Given the description of an element on the screen output the (x, y) to click on. 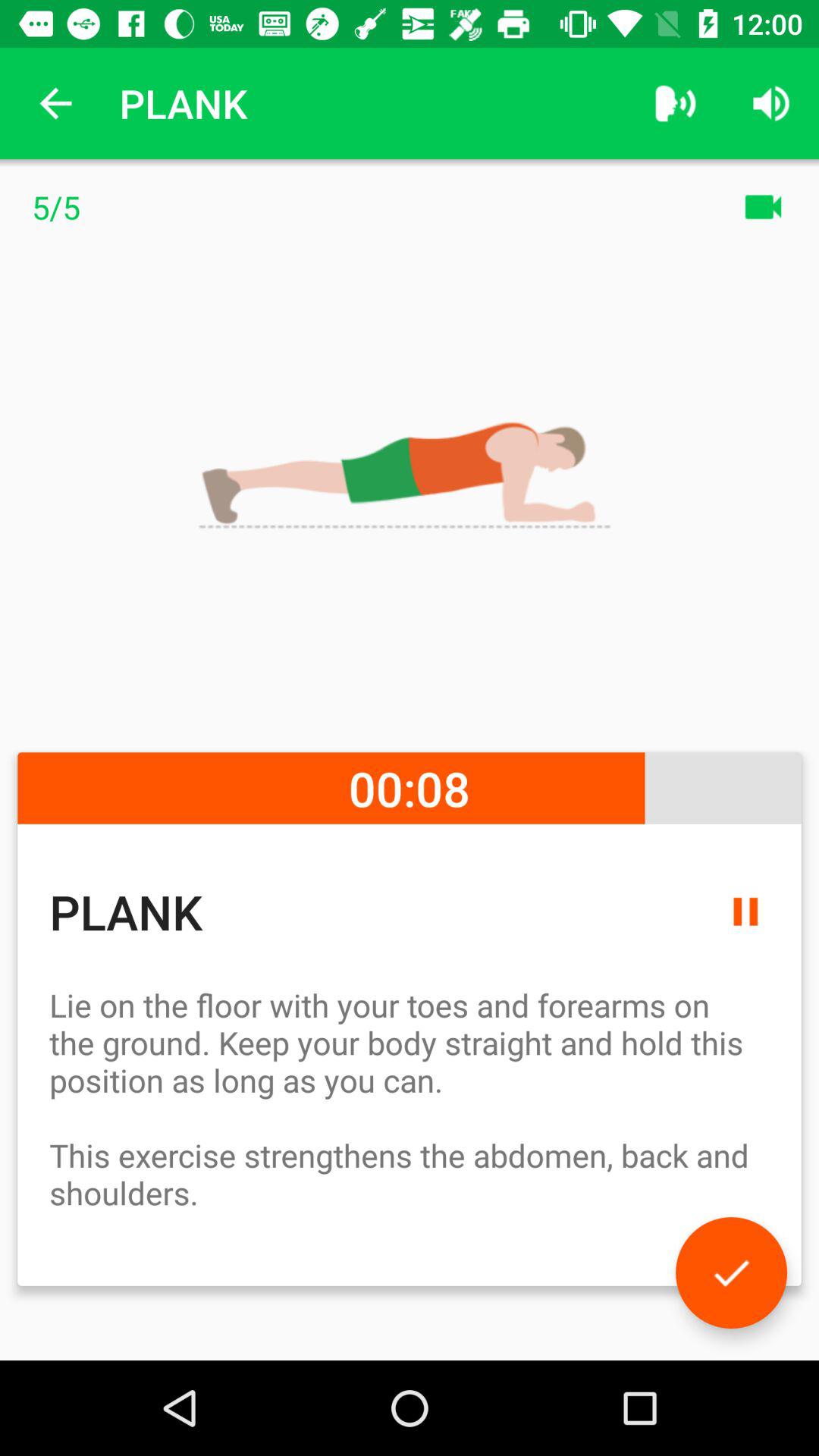
launch the item at the bottom right corner (731, 1272)
